Given the description of an element on the screen output the (x, y) to click on. 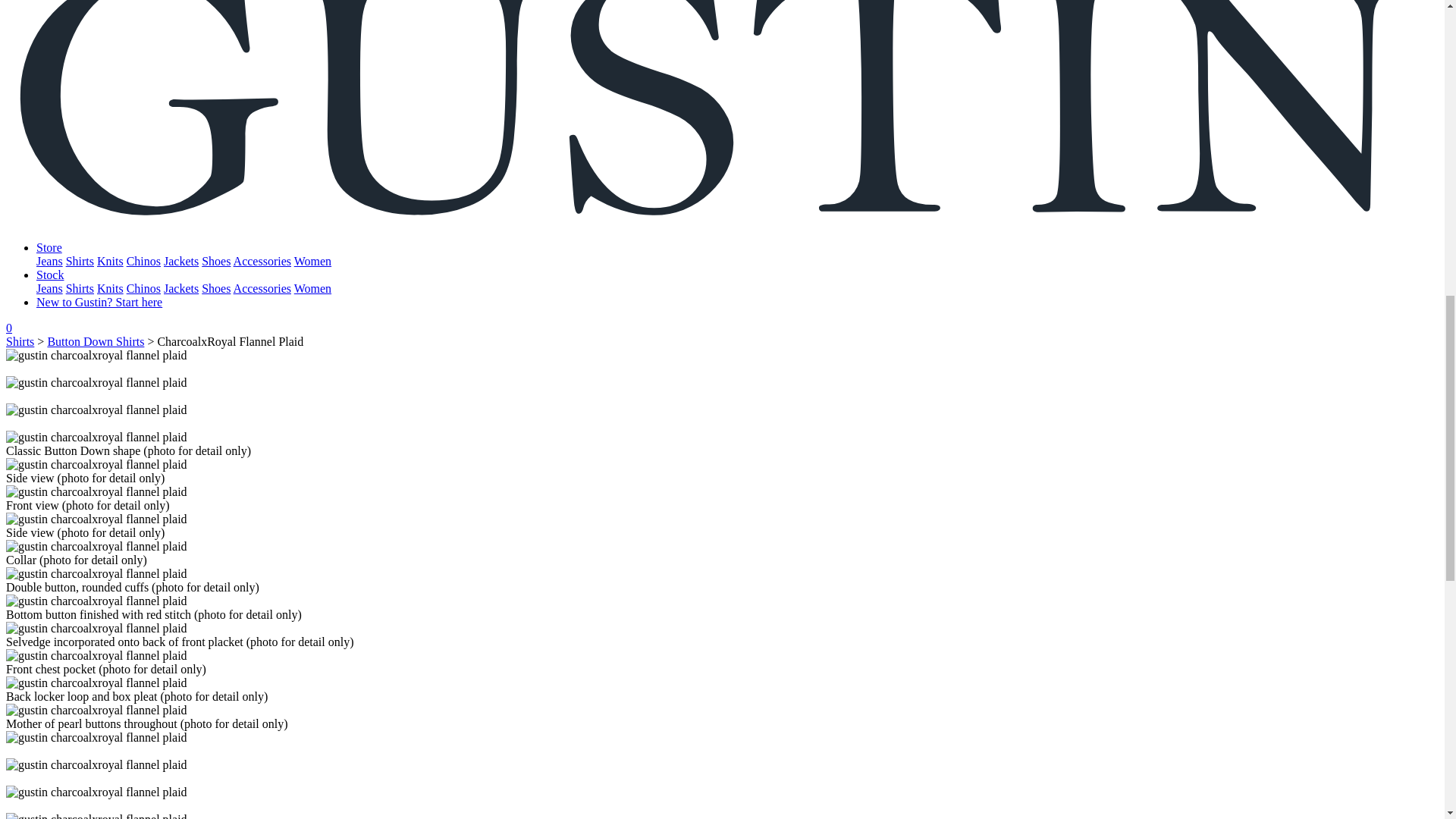
Chinos (143, 260)
Chinos (143, 287)
New to Gustin? Start here (98, 301)
Shirts (79, 287)
Store (49, 246)
Shoes (216, 260)
Women (312, 287)
Shirts (79, 260)
Stock (50, 274)
Women (312, 260)
